Given the description of an element on the screen output the (x, y) to click on. 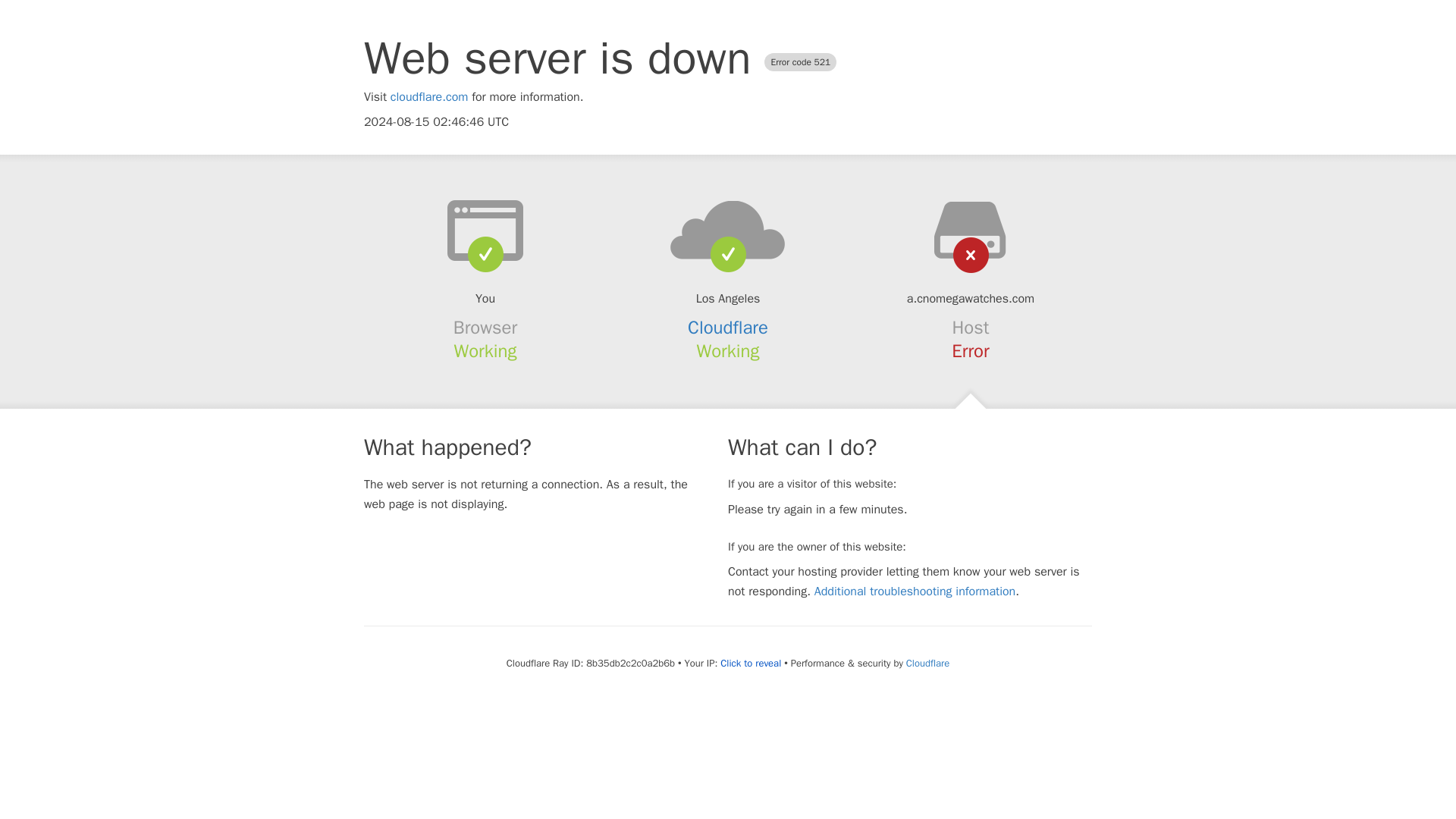
cloudflare.com (429, 96)
Cloudflare (727, 327)
Cloudflare (927, 662)
Additional troubleshooting information (913, 590)
Click to reveal (750, 663)
